Given the description of an element on the screen output the (x, y) to click on. 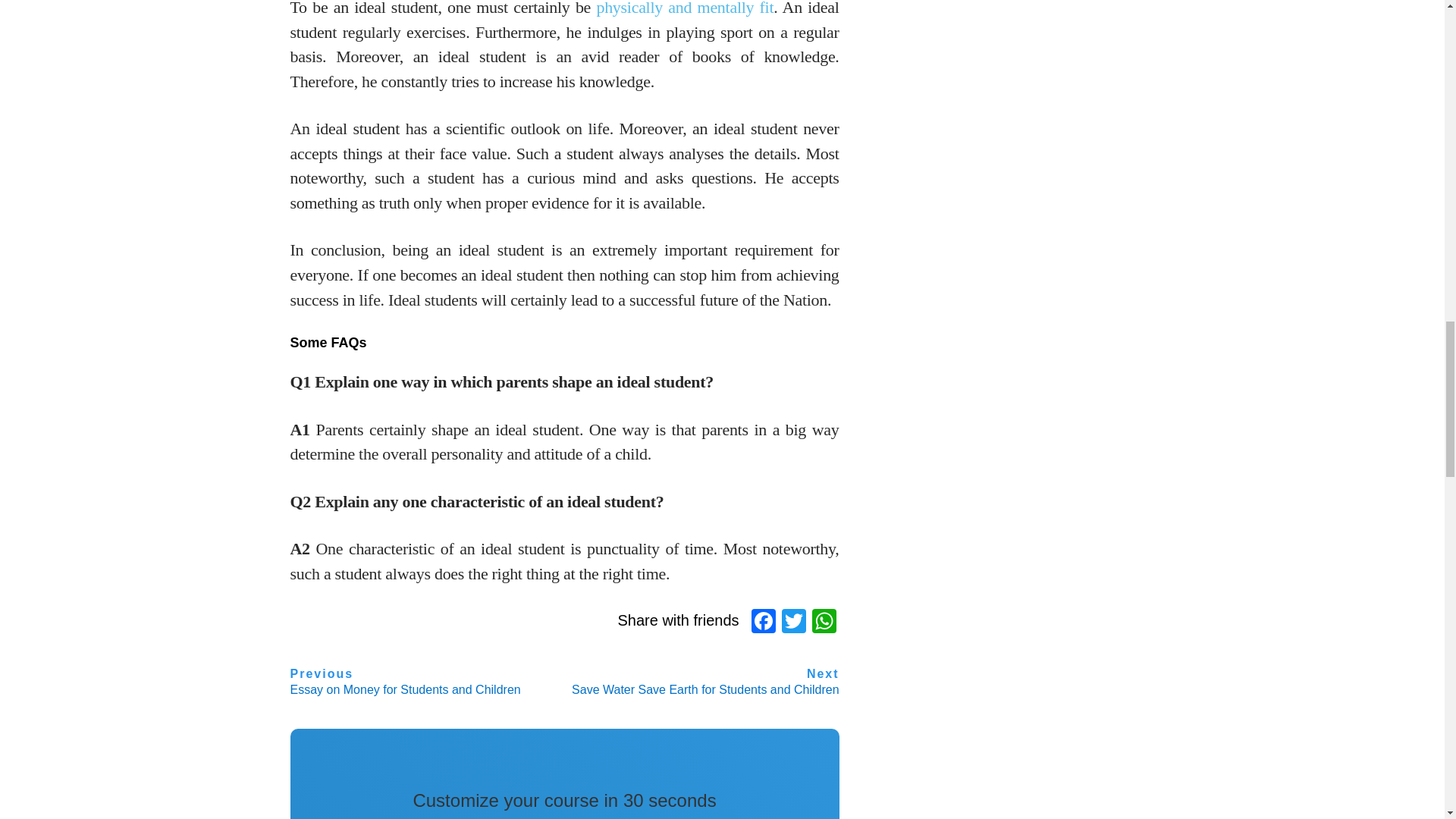
WhatsApp (824, 623)
Facebook (763, 623)
Save Water Save Earth for Students and Children (705, 682)
Essay on Money for Students and Children (404, 682)
Twitter (793, 623)
